Given the description of an element on the screen output the (x, y) to click on. 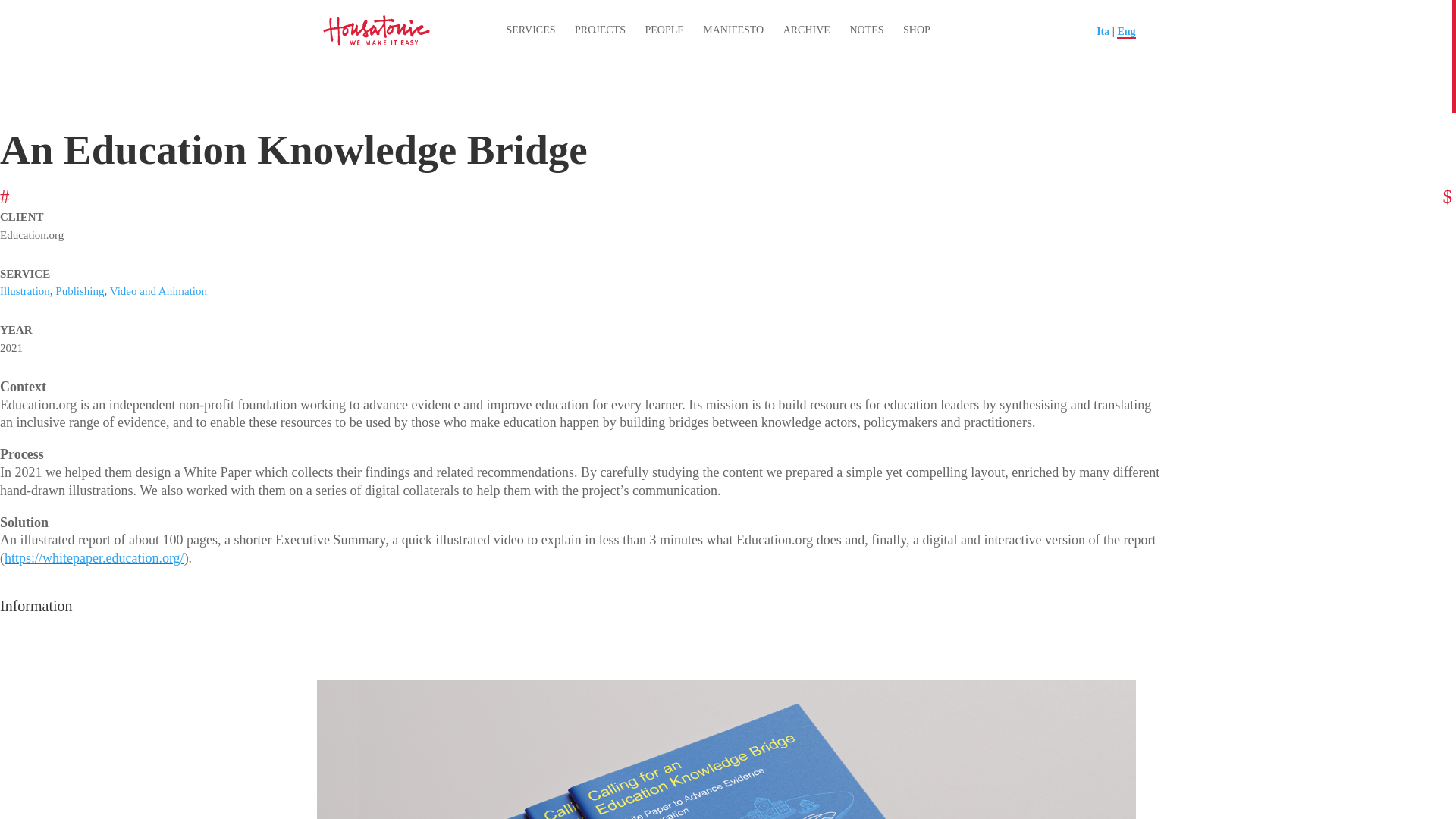
SERVICES (531, 30)
Eng (1125, 31)
SHOP (916, 30)
Ita (1102, 30)
MANIFESTO (732, 30)
PEOPLE (663, 30)
Video and Animation (158, 291)
ARCHIVE (806, 30)
Illustration (24, 291)
NOTES (865, 30)
